Given the description of an element on the screen output the (x, y) to click on. 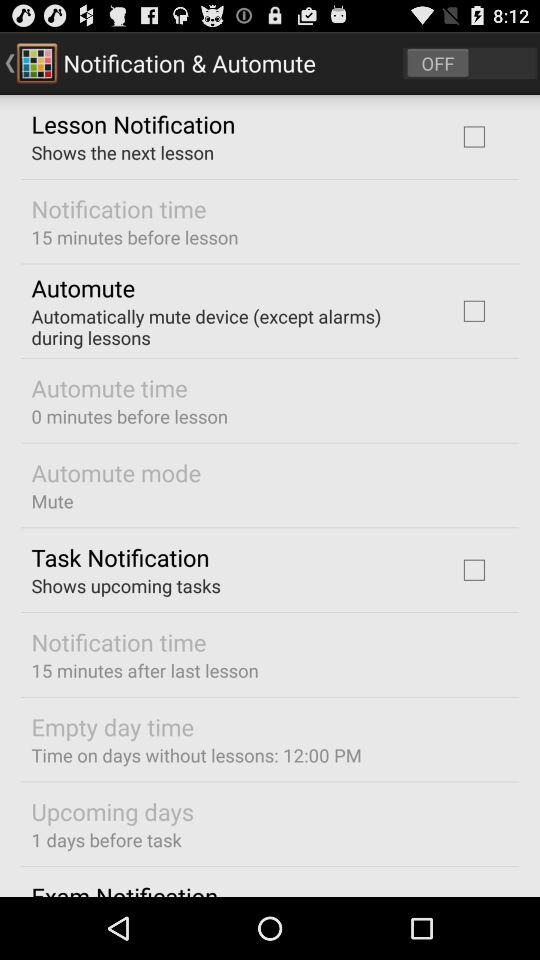
launch time on days at the bottom (196, 754)
